Given the description of an element on the screen output the (x, y) to click on. 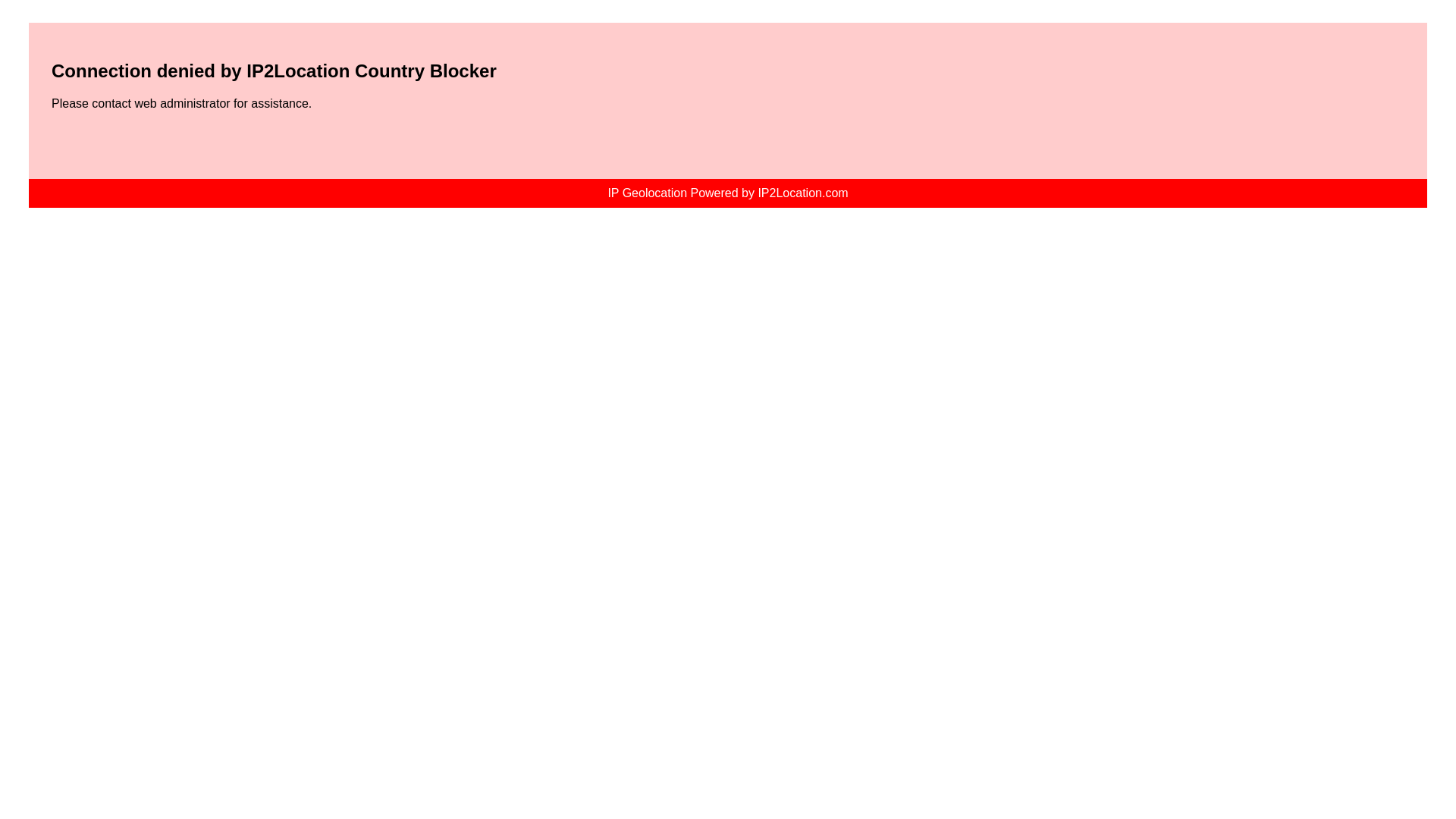
IP Geolocation Powered by IP2Location.com (727, 192)
